Given the description of an element on the screen output the (x, y) to click on. 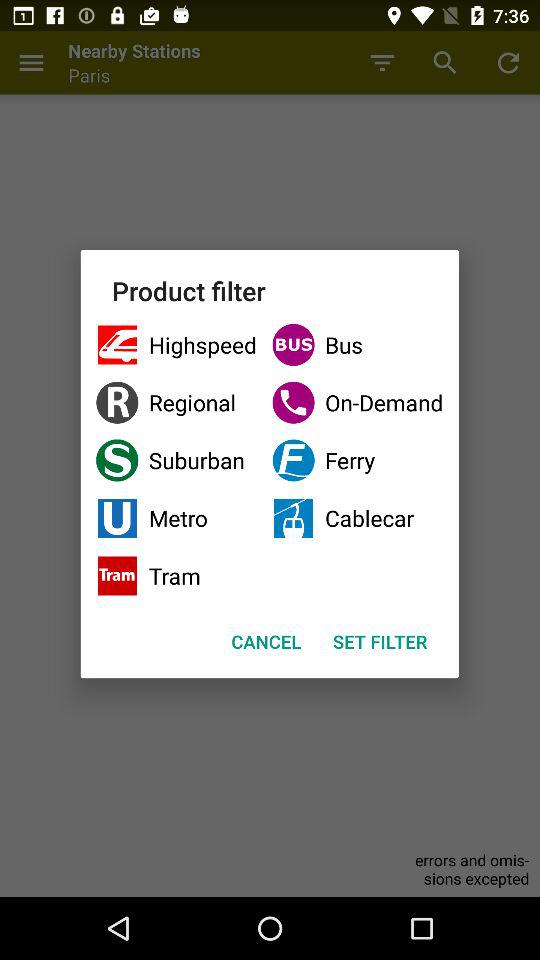
turn on icon next to the cablecar checkbox (176, 575)
